Given the description of an element on the screen output the (x, y) to click on. 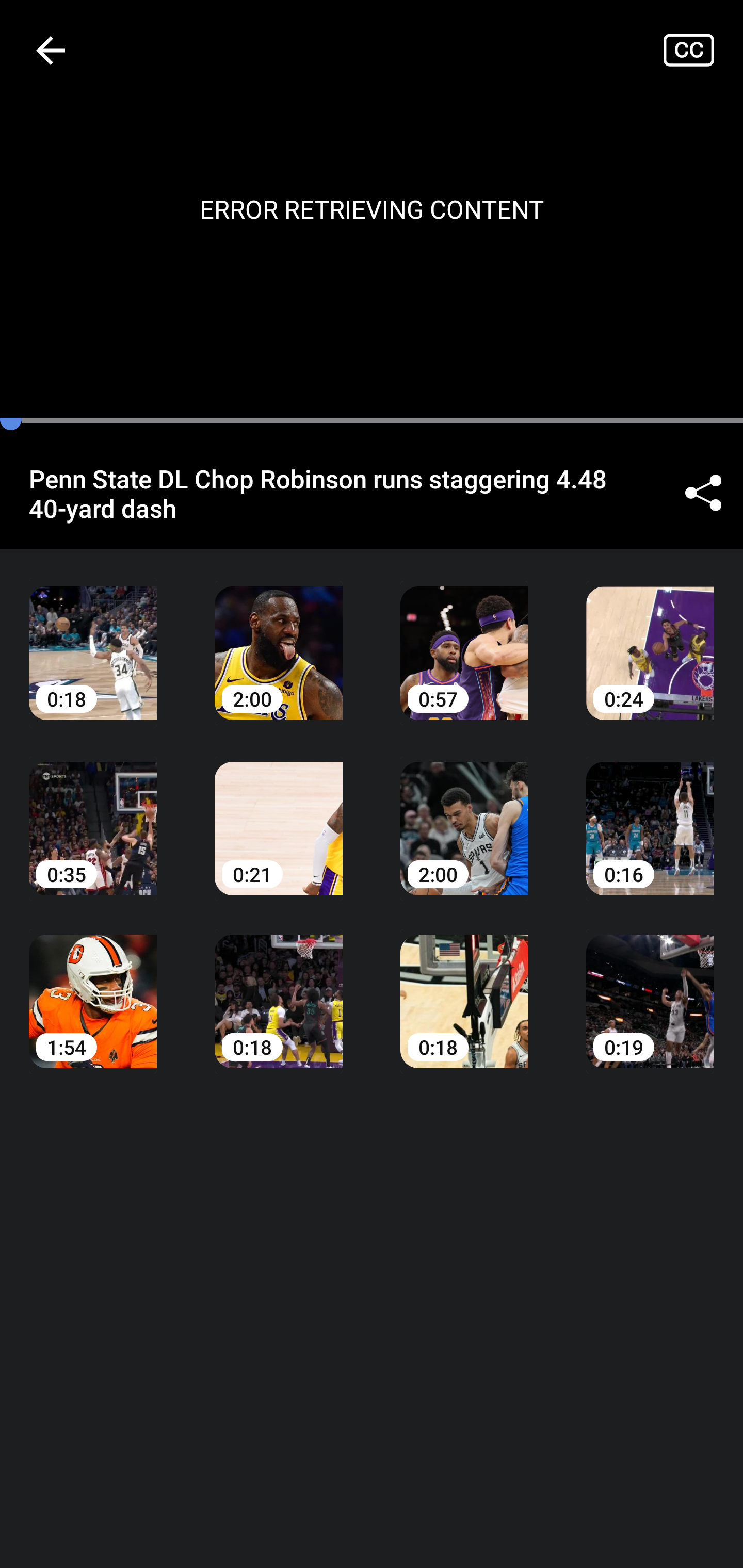
Navigate up (50, 50)
Closed captions  (703, 49)
Share © (703, 493)
0:18 (92, 637)
2:00 (278, 637)
0:57 (464, 637)
0:24 (650, 637)
0:35 (92, 813)
0:21 (278, 813)
2:00 (464, 813)
0:16 (650, 813)
1:54 (92, 987)
0:18 (278, 987)
0:18 (464, 987)
0:19 (650, 987)
